Given the description of an element on the screen output the (x, y) to click on. 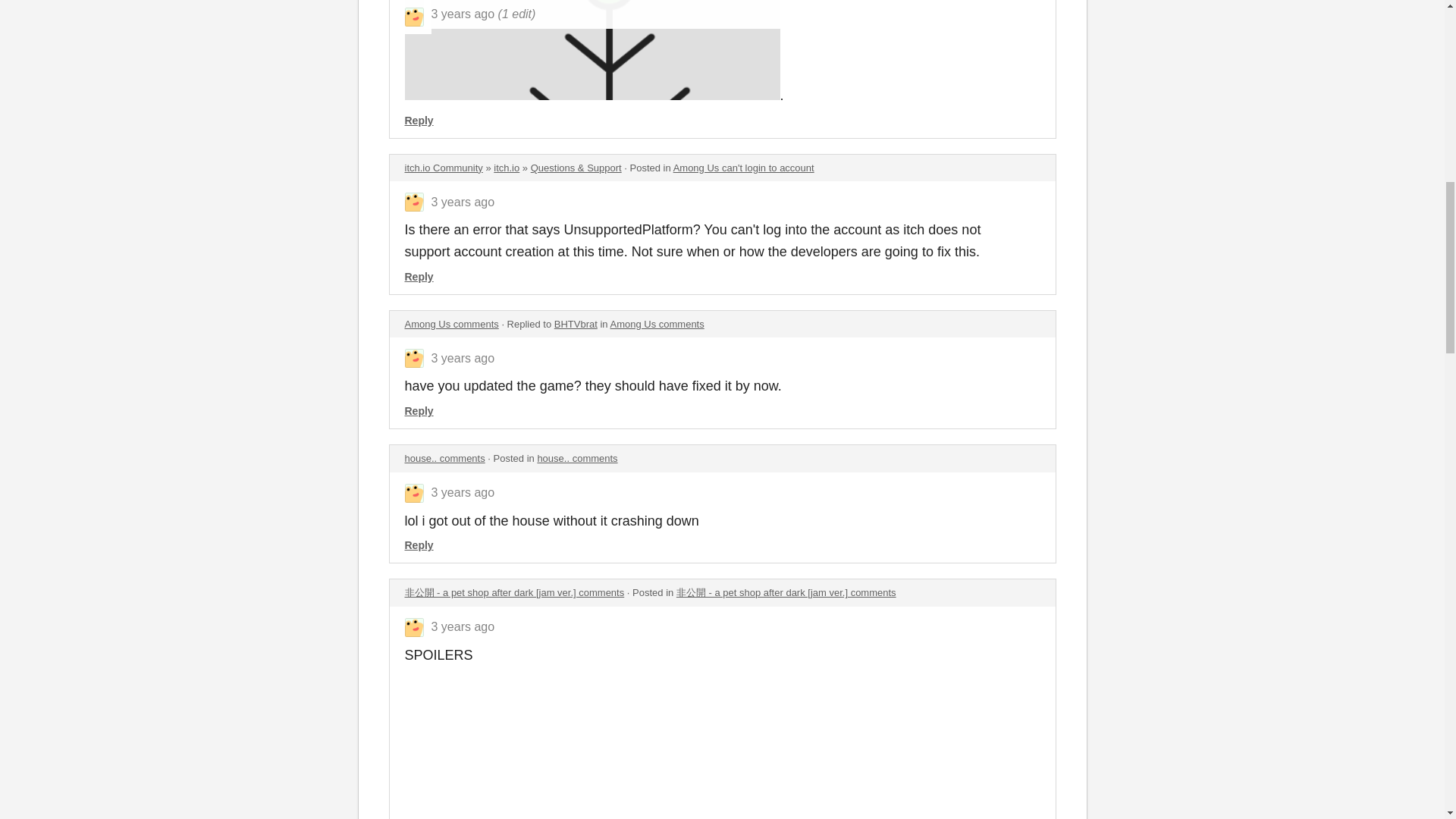
2021-04-03 00:08:39 (462, 201)
2021-04-02 23:25:06 (462, 358)
2021-03-09 21:52:27 (462, 492)
2021-03-09 00:37:04 (462, 626)
